Given the description of an element on the screen output the (x, y) to click on. 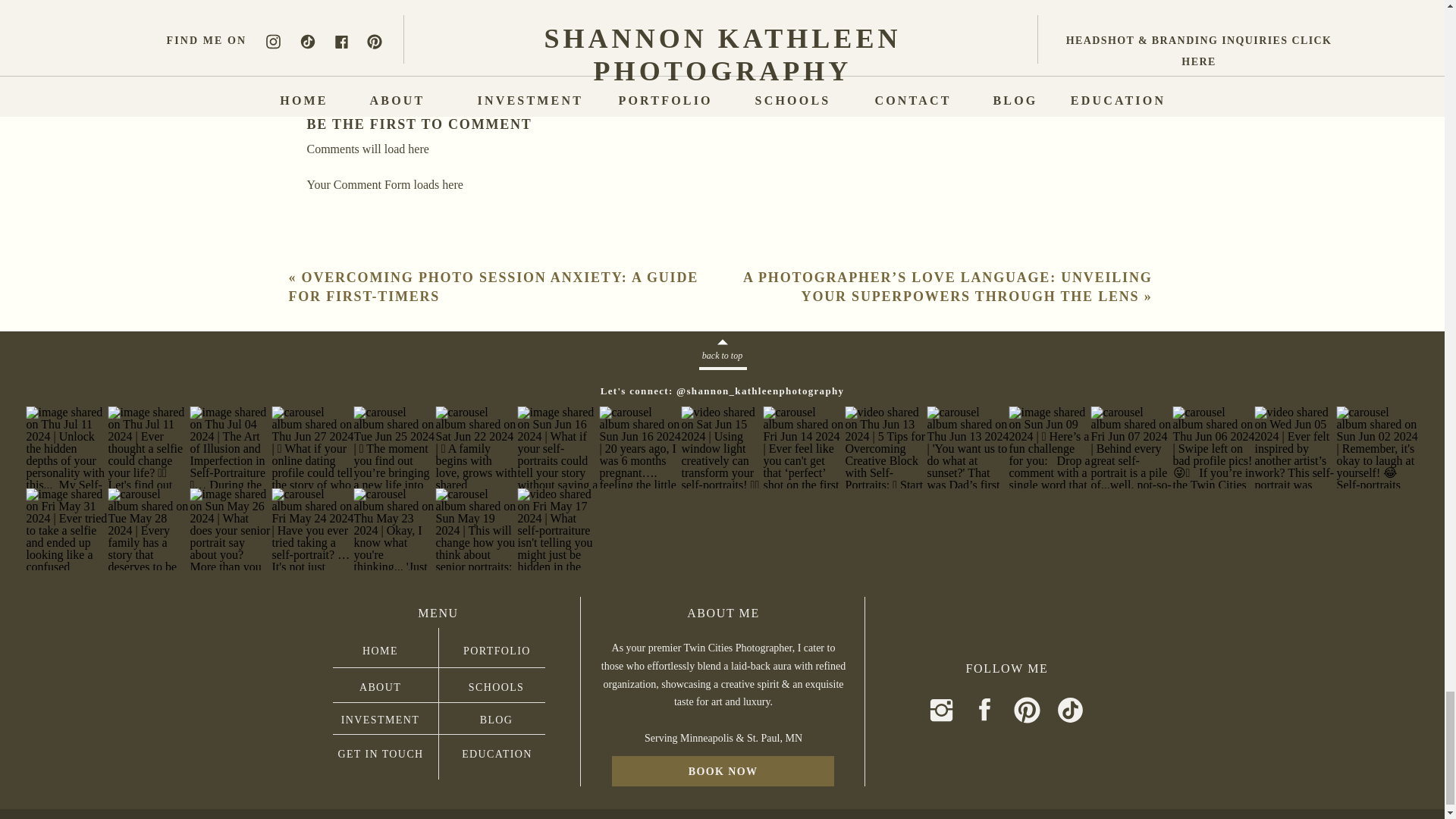
User email (396, 1)
Linkedin (373, 1)
Instagram (326, 1)
Facebook (348, 1)
